Given the description of an element on the screen output the (x, y) to click on. 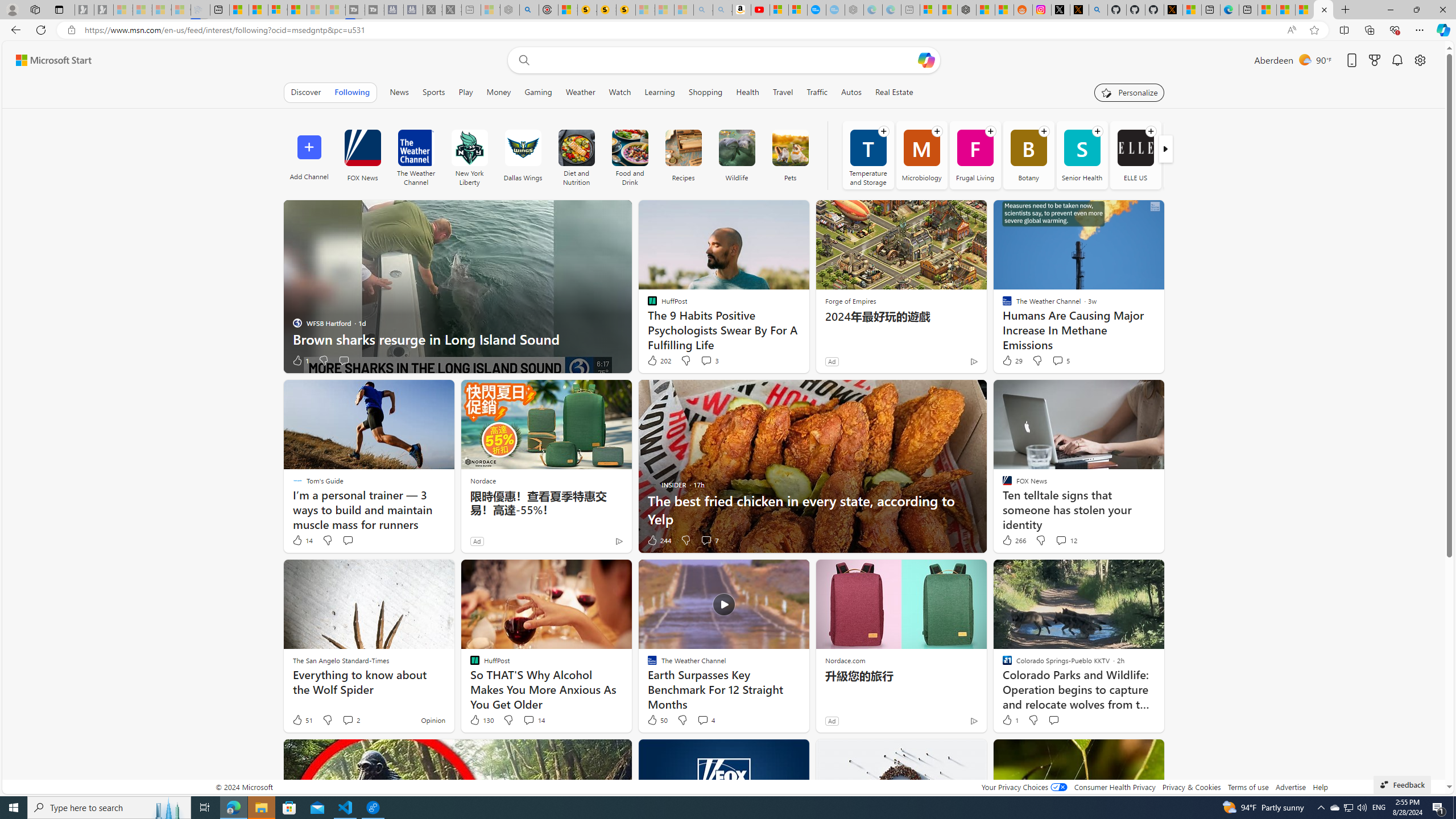
Play (465, 92)
View comments 7 Comment (709, 539)
Skip to content (49, 59)
X Privacy Policy (1173, 9)
130 Like (480, 719)
ELLE US (1135, 147)
Web search (520, 60)
ELLE US (1135, 155)
Senior Health (1081, 155)
